Given the description of an element on the screen output the (x, y) to click on. 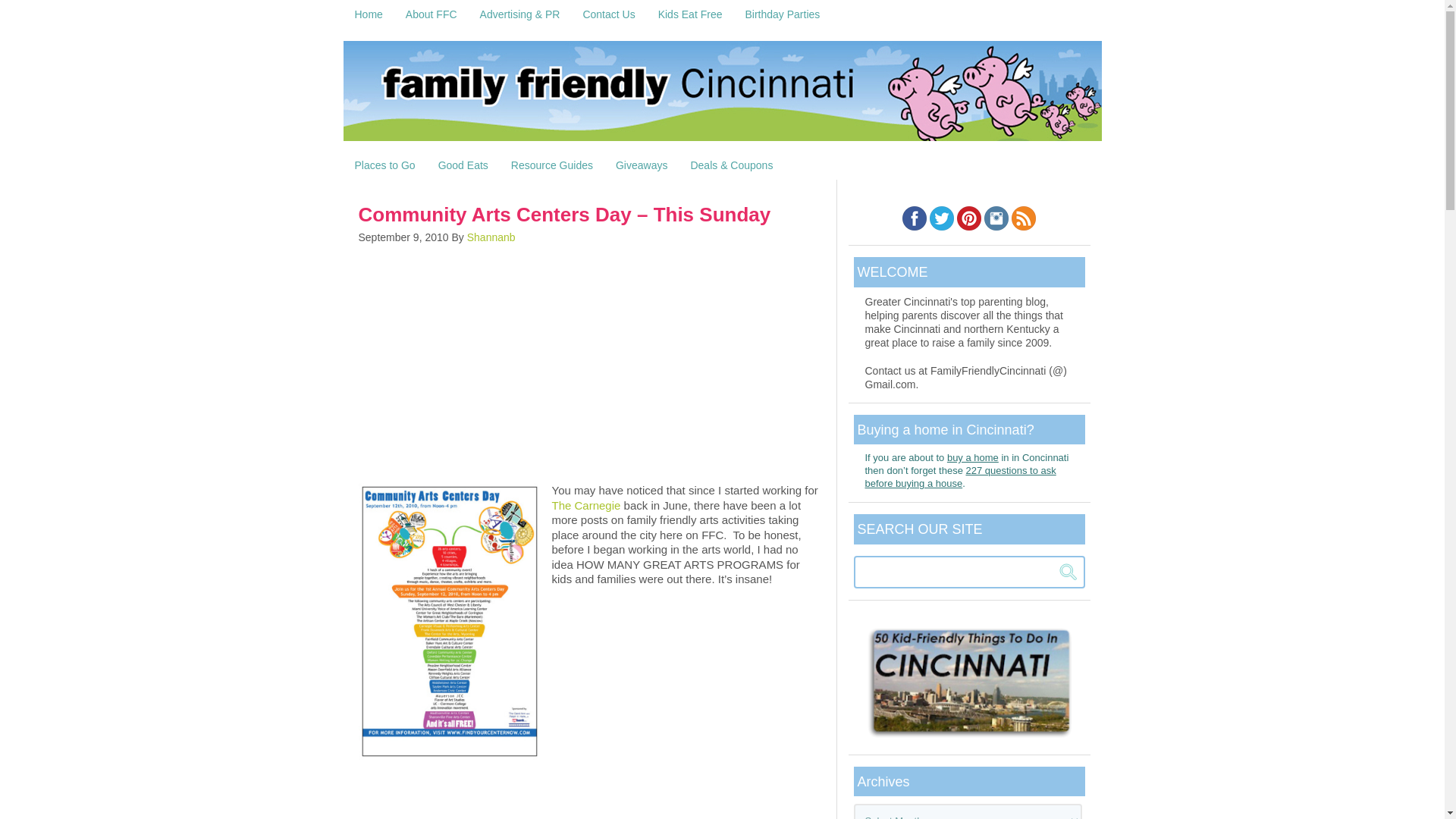
The Carnegie (586, 504)
Contact Us (608, 14)
Home (367, 14)
Kids Eat Free (689, 14)
Family Friendly Cincinnati (721, 95)
Resource Guides (551, 164)
Shannanb (491, 236)
Places to Go (384, 164)
Giveaways (641, 164)
Advertisement (589, 791)
The Carnegie (586, 504)
Advertisement (589, 362)
Good Eats (462, 164)
About FFC (431, 14)
Birthday Parties (782, 14)
